Given the description of an element on the screen output the (x, y) to click on. 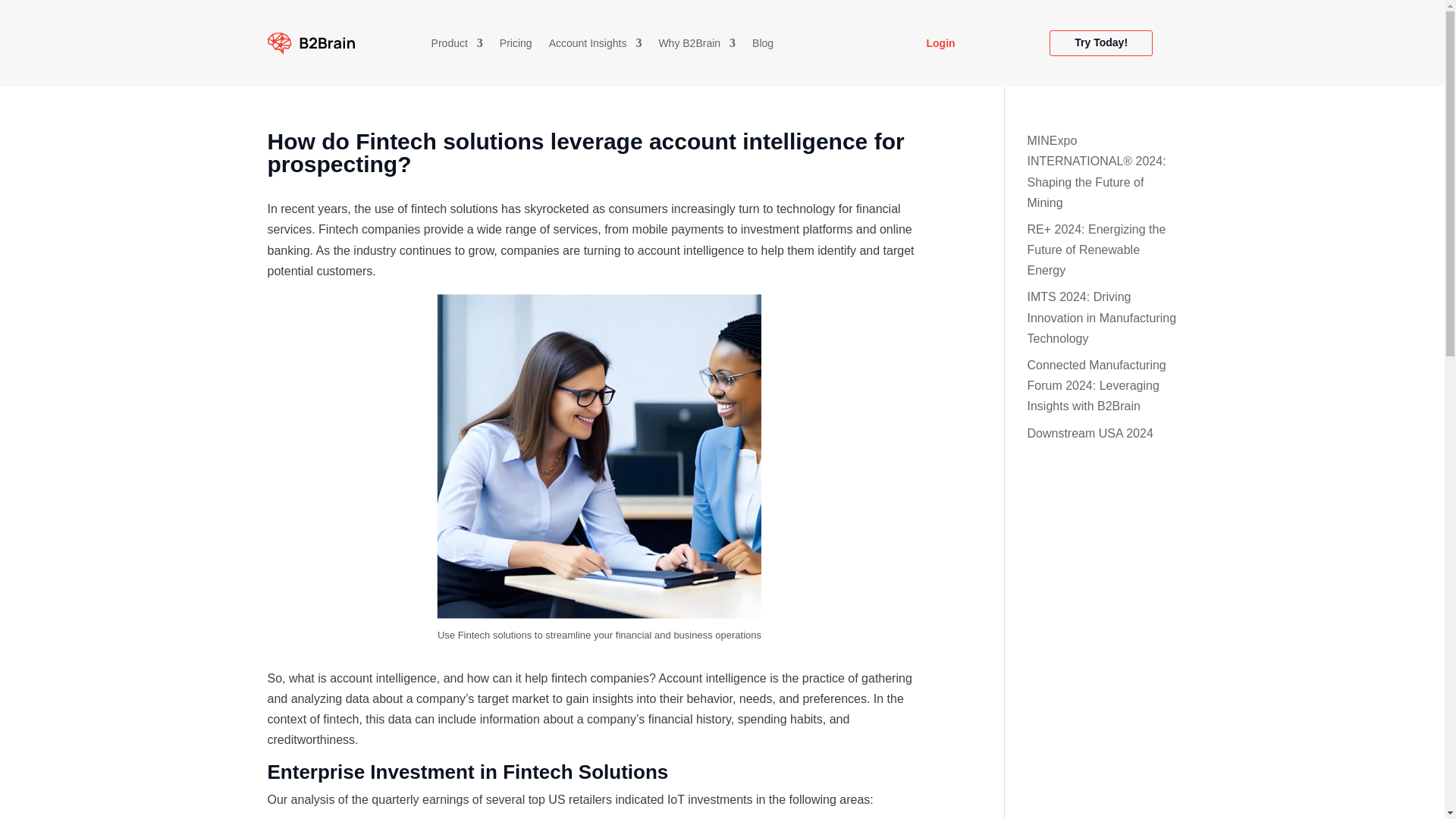
Product (456, 45)
Why B2Brain (696, 45)
Blog (762, 45)
Account Insights (595, 45)
b2brain logo full (310, 43)
Pricing (515, 45)
